Given the description of an element on the screen output the (x, y) to click on. 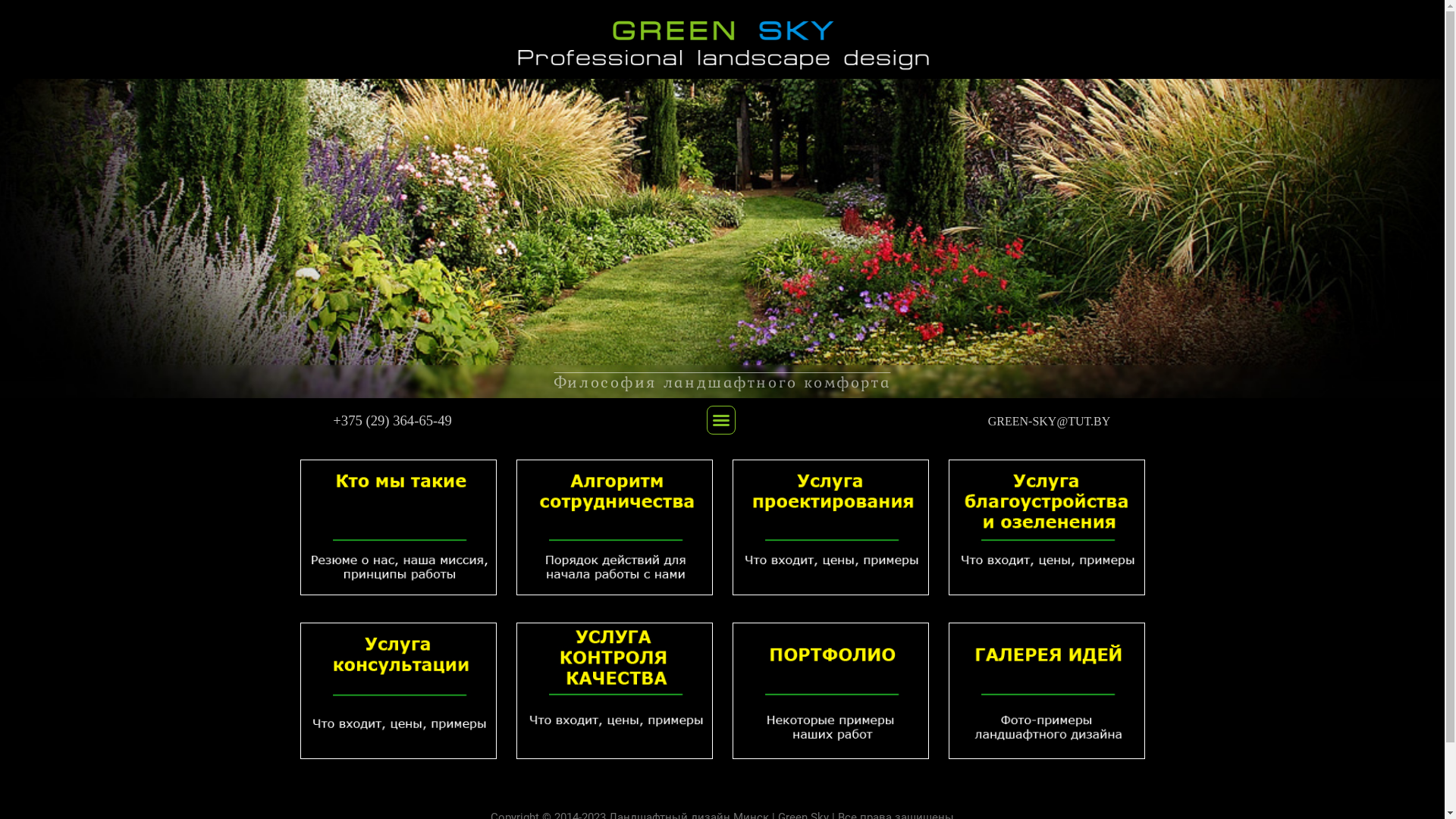
+375 (29) 364-65-49 Element type: text (391, 420)
logotip Element type: hover (722, 39)
GREEN-SKY@TUT.BY Element type: text (1049, 420)
